Given the description of an element on the screen output the (x, y) to click on. 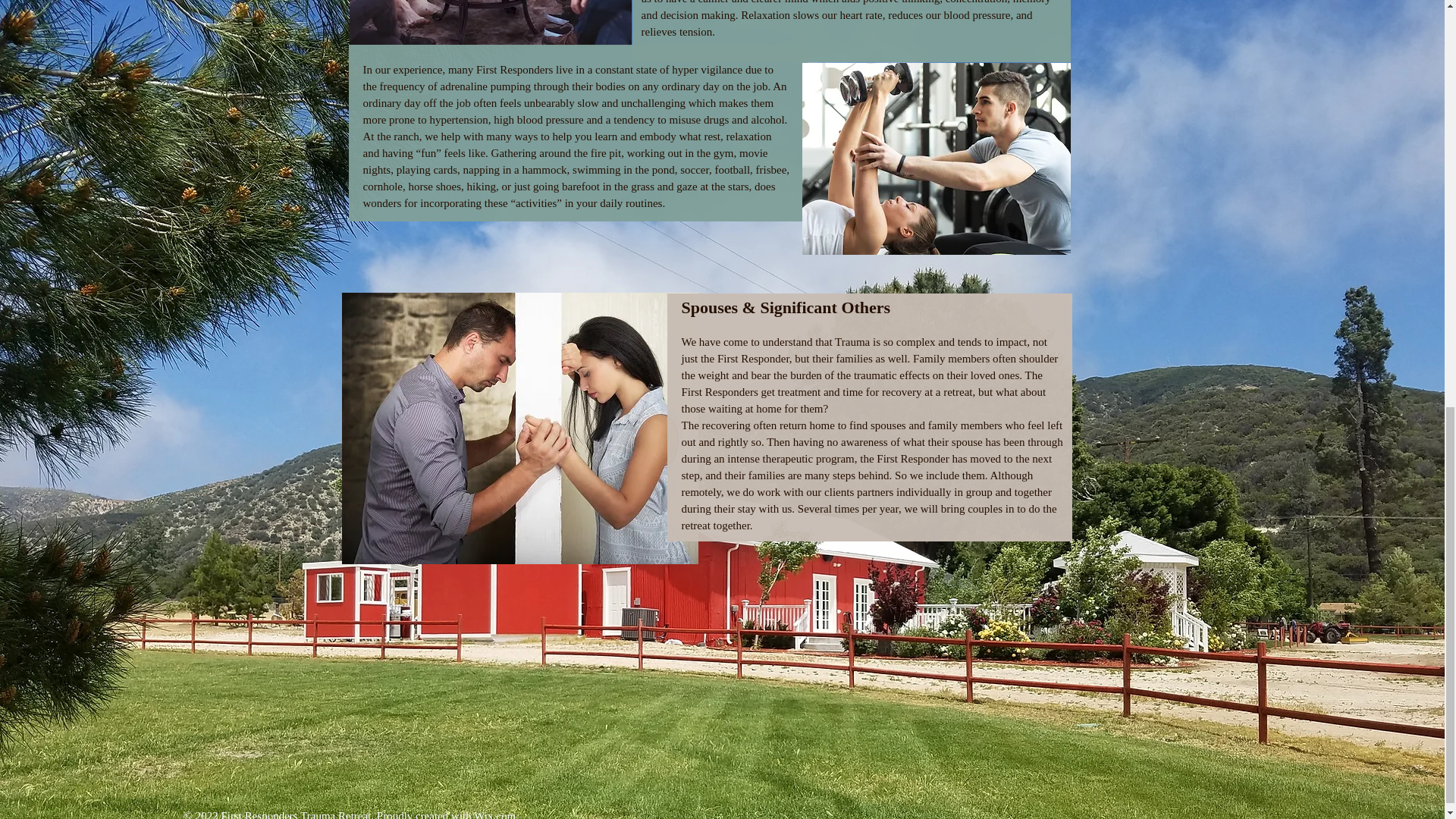
Wix.com (494, 814)
